Given the description of an element on the screen output the (x, y) to click on. 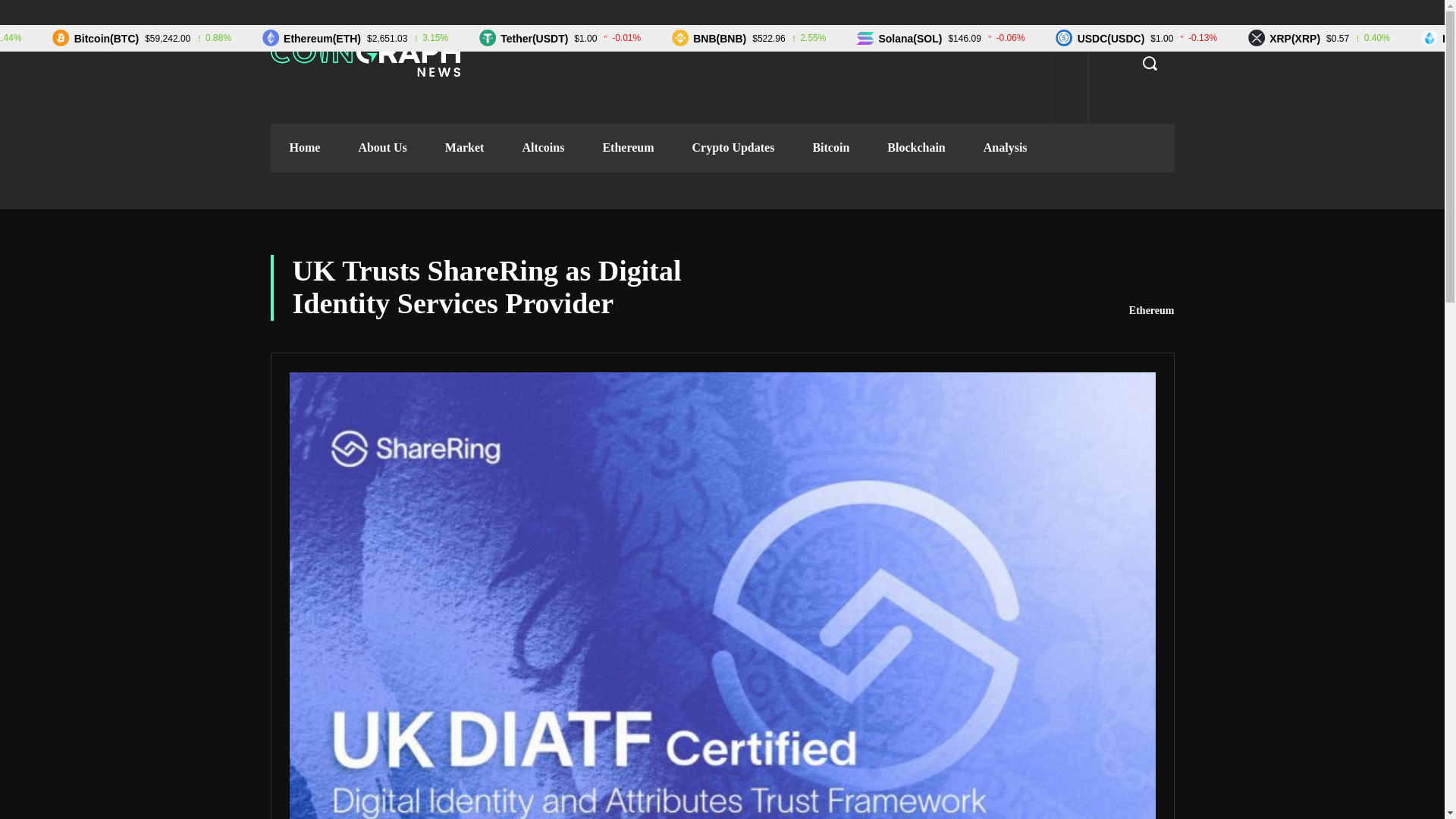
Market (464, 147)
Home (304, 147)
Ethereum (1151, 310)
Analysis (1004, 147)
Ethereum (627, 147)
About Us (382, 147)
Blockchain (915, 147)
Bitcoin (830, 147)
Crypto Updates (732, 147)
Altcoins (542, 147)
